Given the description of an element on the screen output the (x, y) to click on. 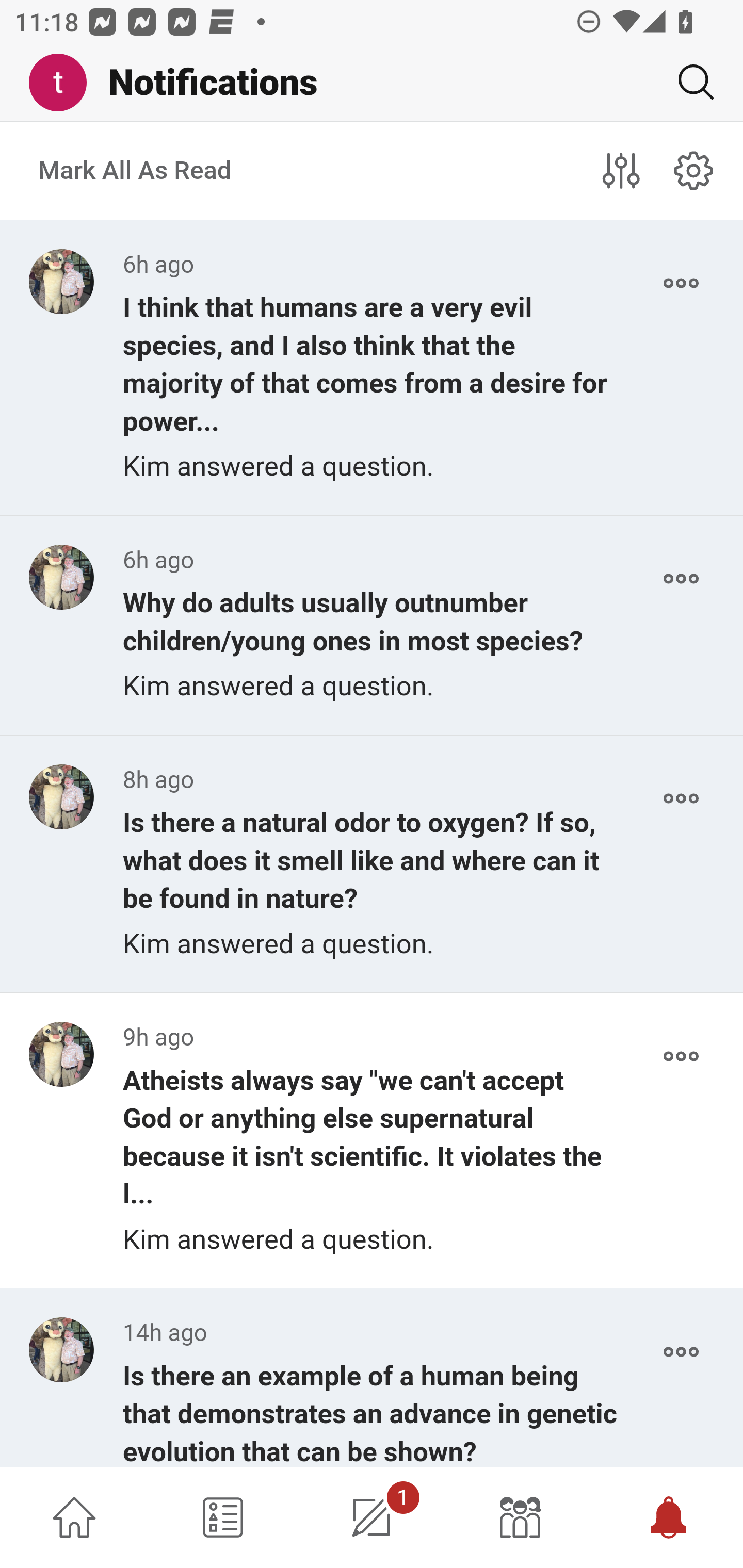
Me (64, 83)
Search (688, 82)
Mark All As Read (135, 171)
notifications# (693, 170)
More (681, 282)
More (681, 579)
More (681, 798)
More (681, 1055)
More (681, 1352)
1 (371, 1517)
